Given the description of an element on the screen output the (x, y) to click on. 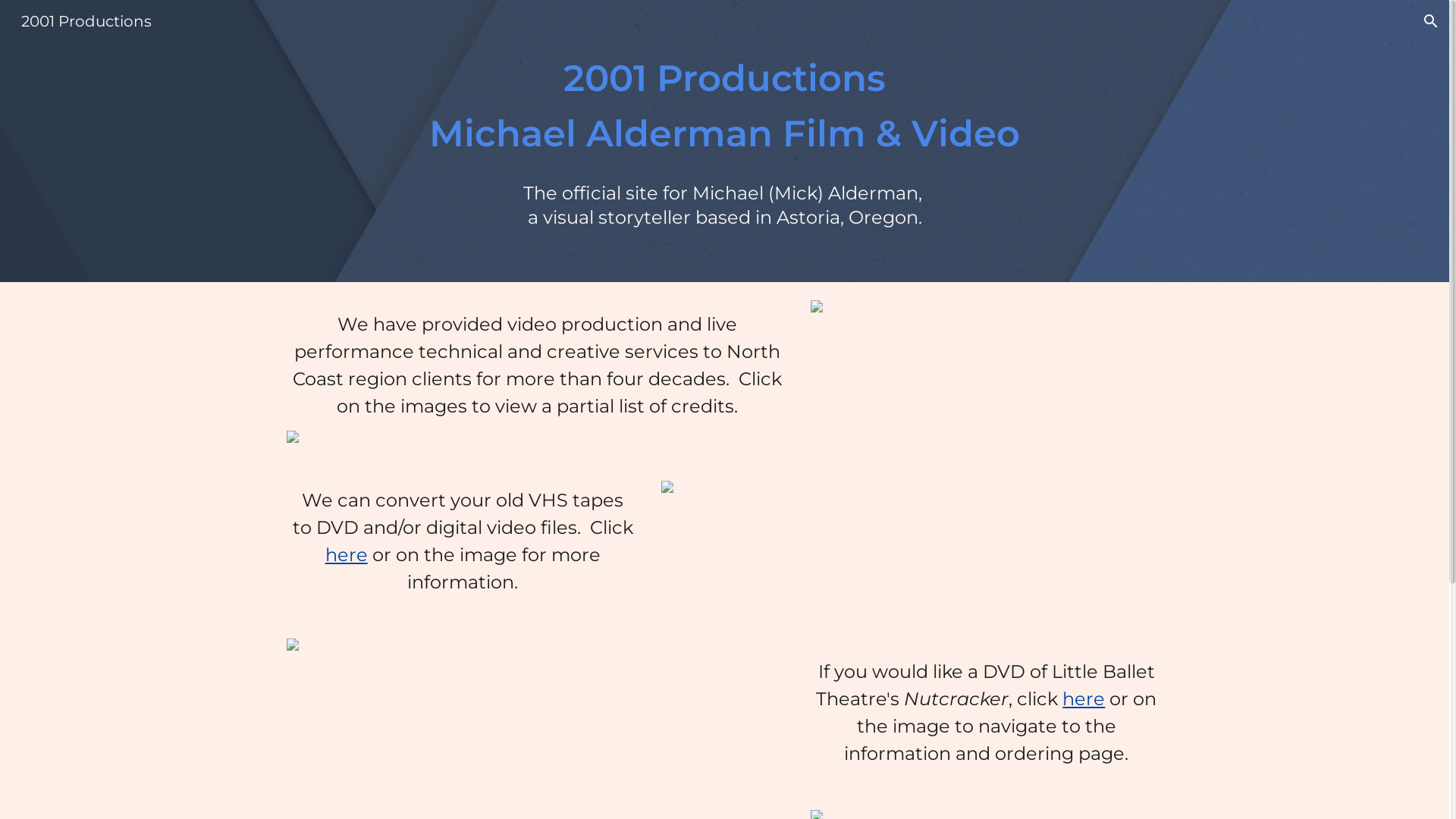
2001 Productions Element type: text (86, 19)
here Element type: text (346, 556)
here Element type: text (1083, 700)
